Given the description of an element on the screen output the (x, y) to click on. 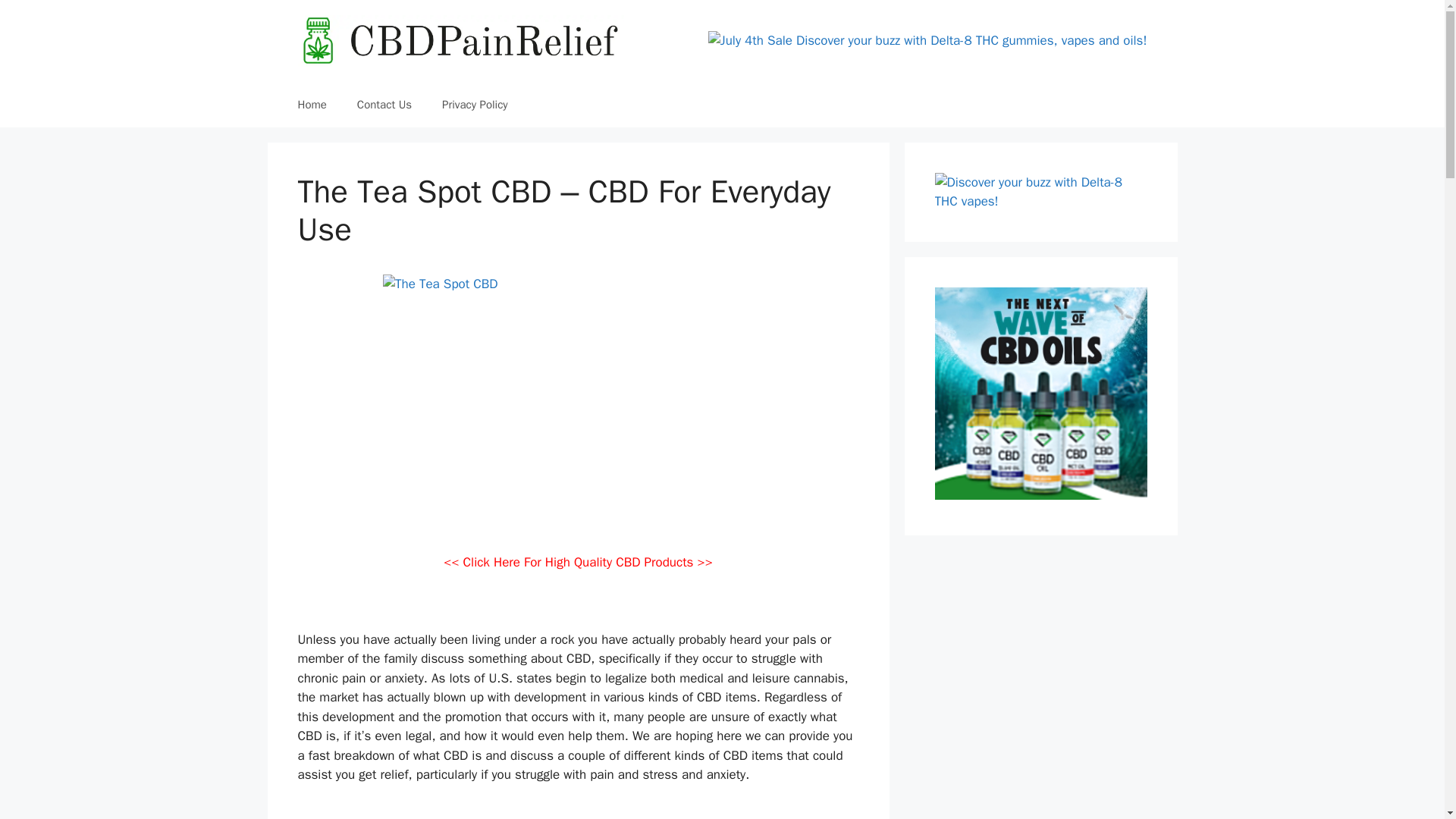
CBDPainRelief (460, 40)
Privacy Policy (474, 104)
CBDPainRelief (460, 39)
Contact Us (384, 104)
Home (311, 104)
